Given the description of an element on the screen output the (x, y) to click on. 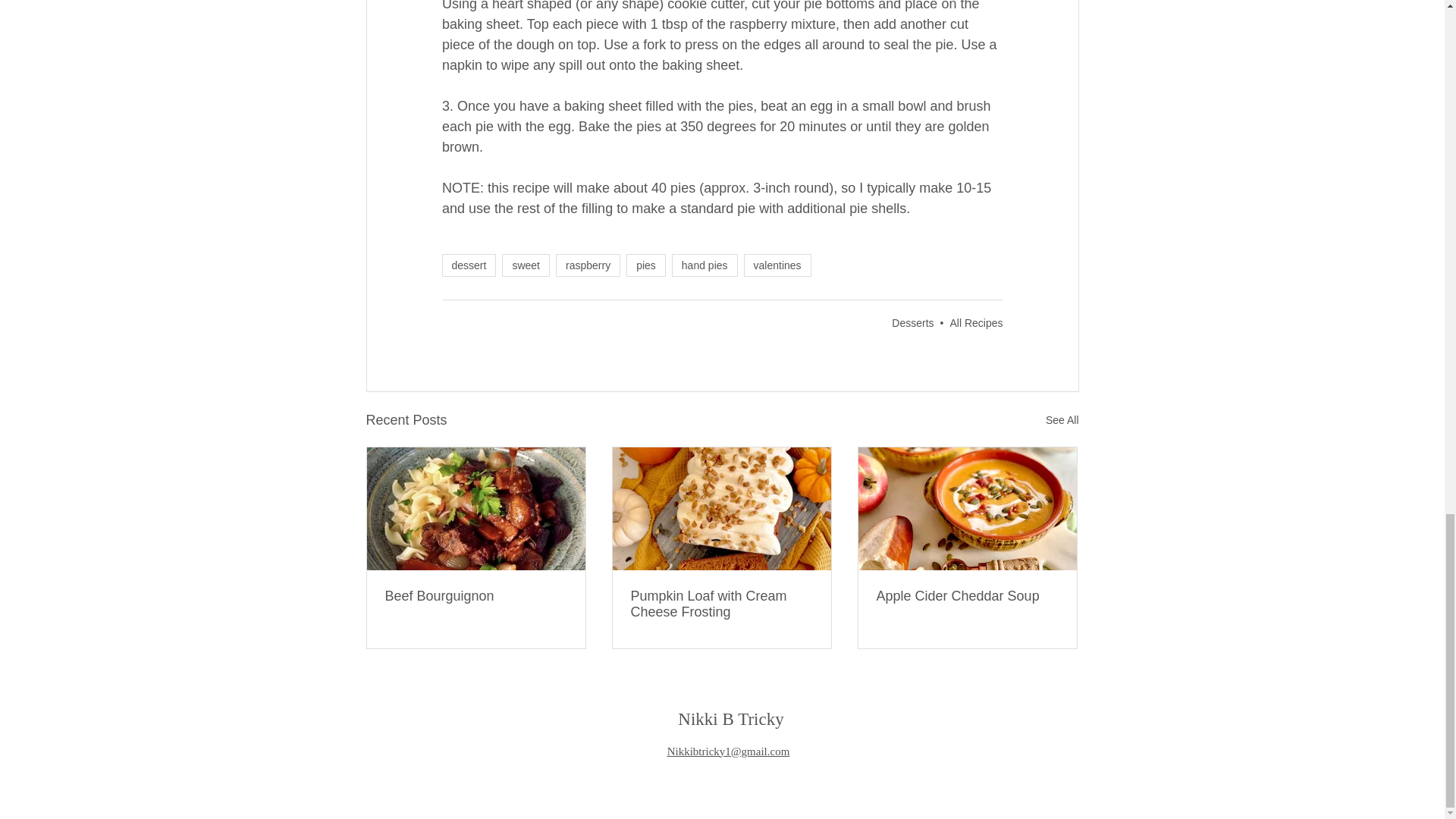
Pumpkin Loaf with Cream Cheese Frosting (721, 603)
Apple Cider Cheddar Soup (967, 596)
raspberry (588, 264)
dessert (468, 264)
Beef Bourguignon (476, 596)
All Recipes (976, 322)
Desserts (912, 322)
pies (645, 264)
See All (1061, 420)
sweet (526, 264)
